Given the description of an element on the screen output the (x, y) to click on. 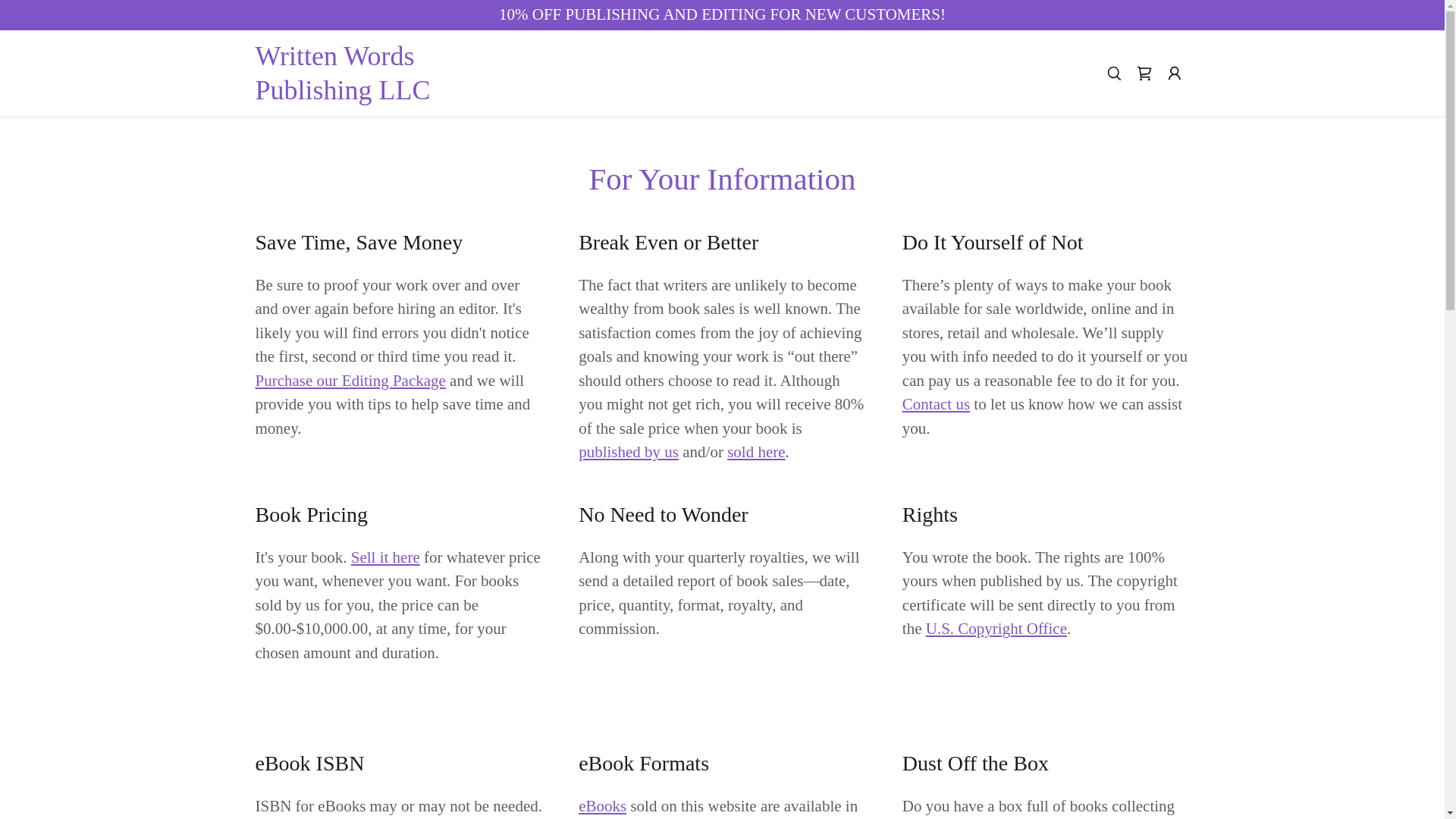
Written Words Publishing LLC (370, 94)
Written Words Publishing LLC (370, 94)
